Given the description of an element on the screen output the (x, y) to click on. 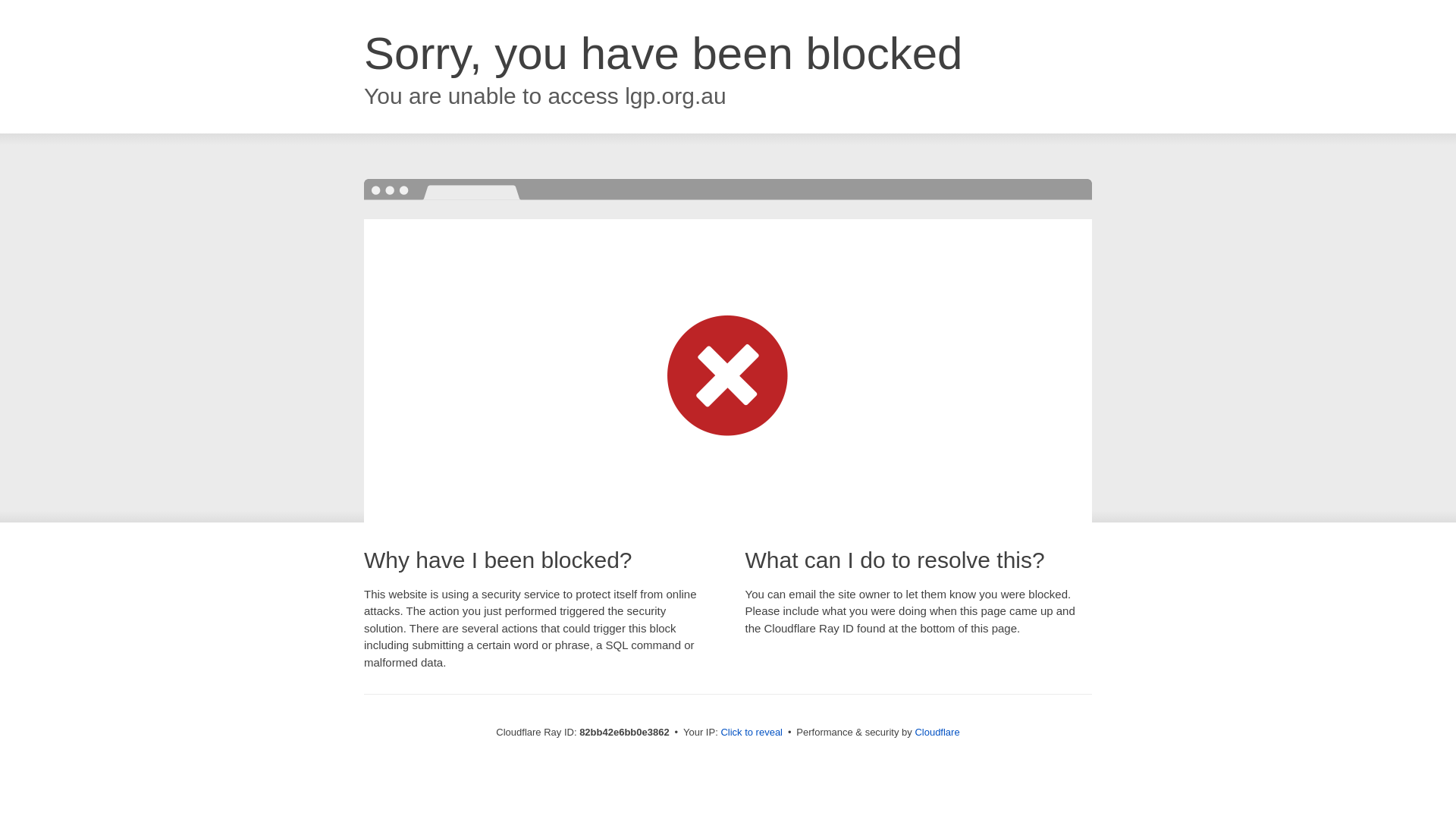
Click to reveal Element type: text (751, 732)
Cloudflare Element type: text (936, 731)
